Given the description of an element on the screen output the (x, y) to click on. 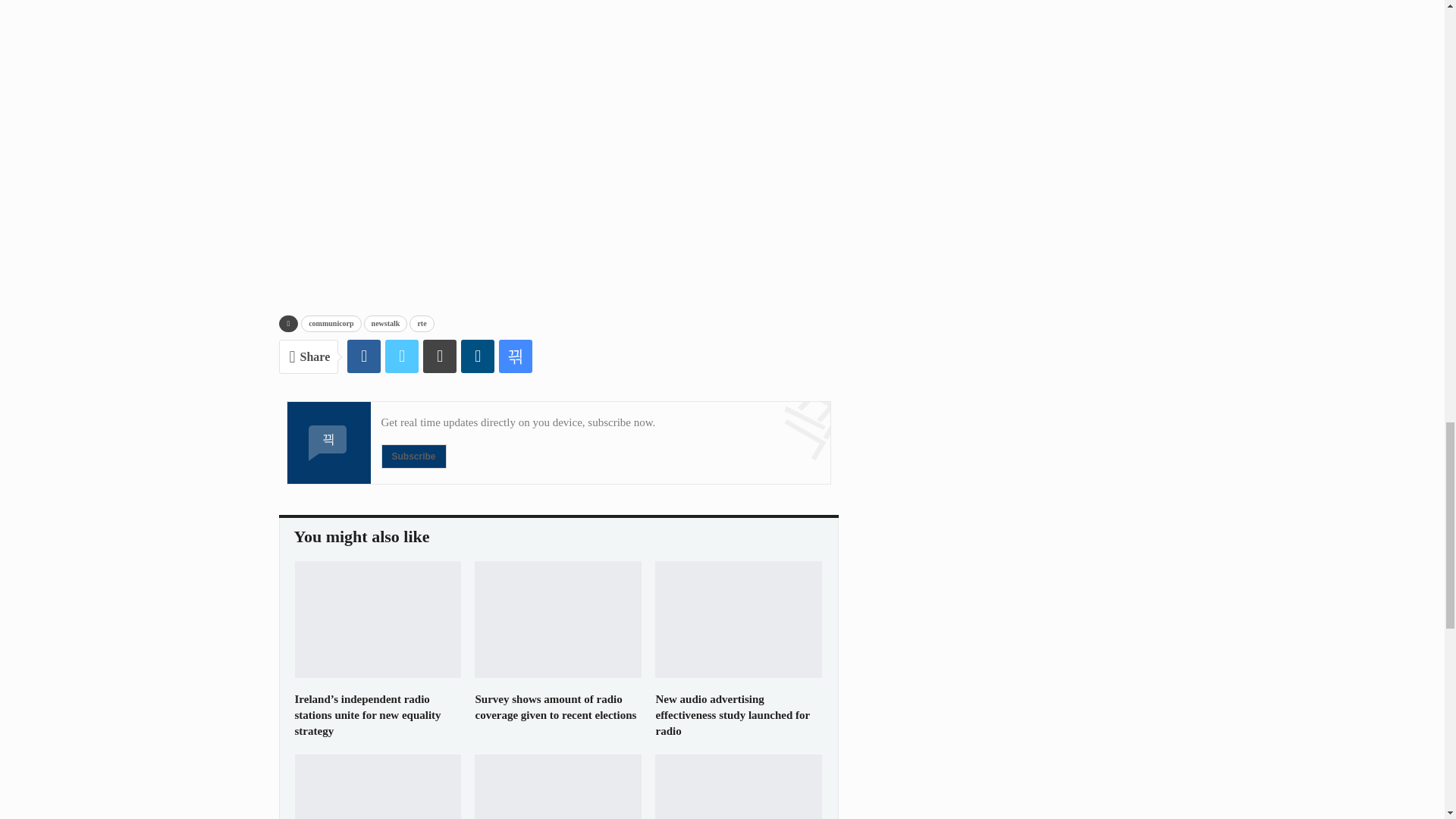
New audio advertising effectiveness study launched for radio (732, 714)
newstalk (385, 323)
New audio advertising effectiveness study launched for radio (738, 619)
communicorp (331, 323)
rte (421, 323)
